Given the description of an element on the screen output the (x, y) to click on. 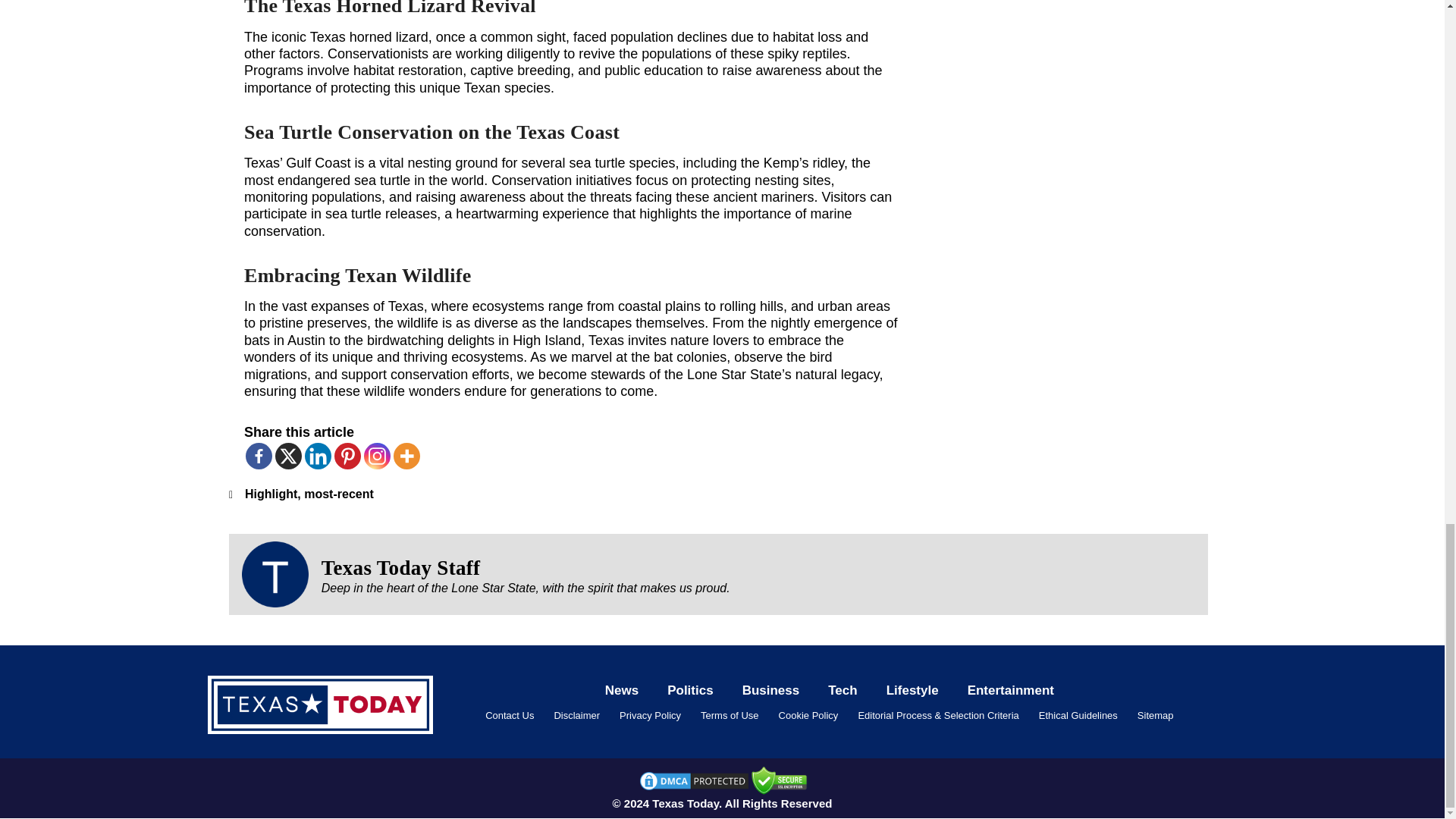
Instagram (377, 456)
Facebook (259, 456)
Linkedin (317, 456)
DMCA.com Protection Status (693, 779)
X (288, 456)
Pinterest (347, 456)
More (406, 456)
